Given the description of an element on the screen output the (x, y) to click on. 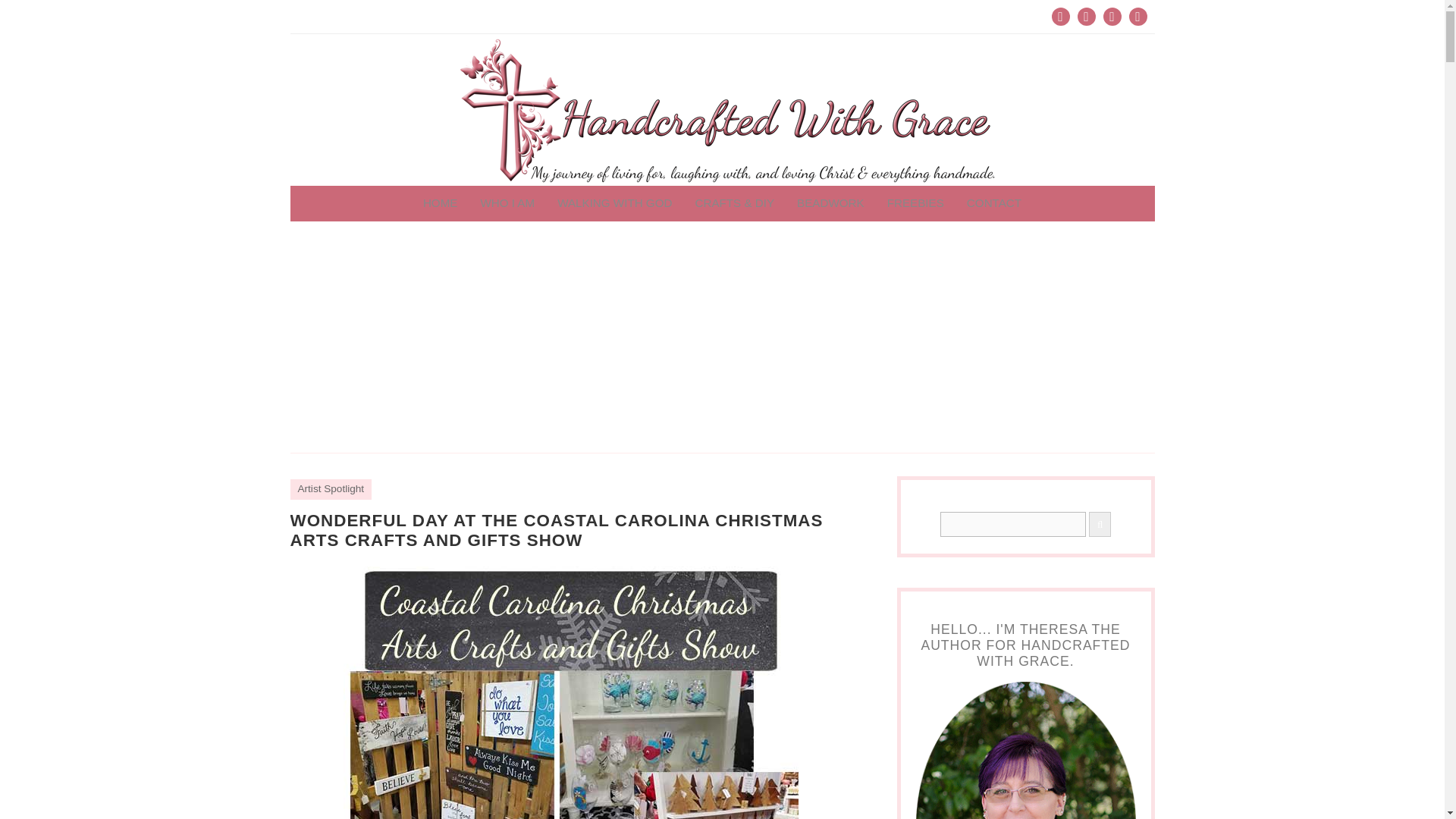
BEADWORK (831, 202)
Search (1013, 524)
WALKING WITH GOD (614, 202)
FREEBIES (915, 202)
Artist Spotlight (330, 488)
WHO I AM (507, 202)
HOME (440, 202)
